Given the description of an element on the screen output the (x, y) to click on. 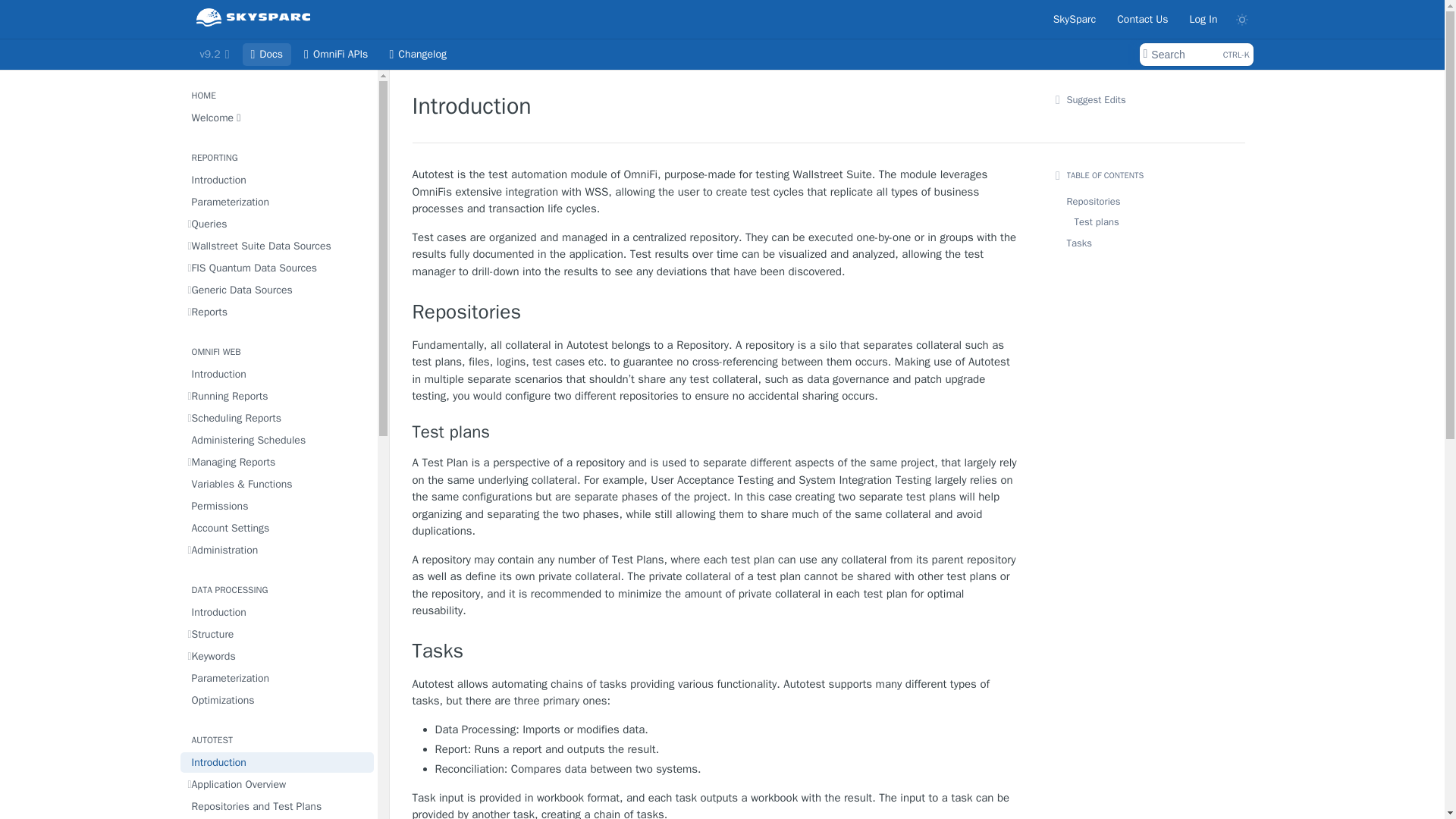
Tasks (715, 651)
Test plans (715, 432)
Changelog (417, 54)
Contact Us (1142, 18)
Docs (267, 54)
Queries (277, 223)
v9.2 (213, 54)
Wallstreet Suite Data Sources (277, 245)
Log In (1202, 18)
Introduction (277, 179)
Repositories (715, 312)
OmniFi APIs (1195, 54)
SkySparc (335, 54)
Parameterization (1075, 18)
